Given the description of an element on the screen output the (x, y) to click on. 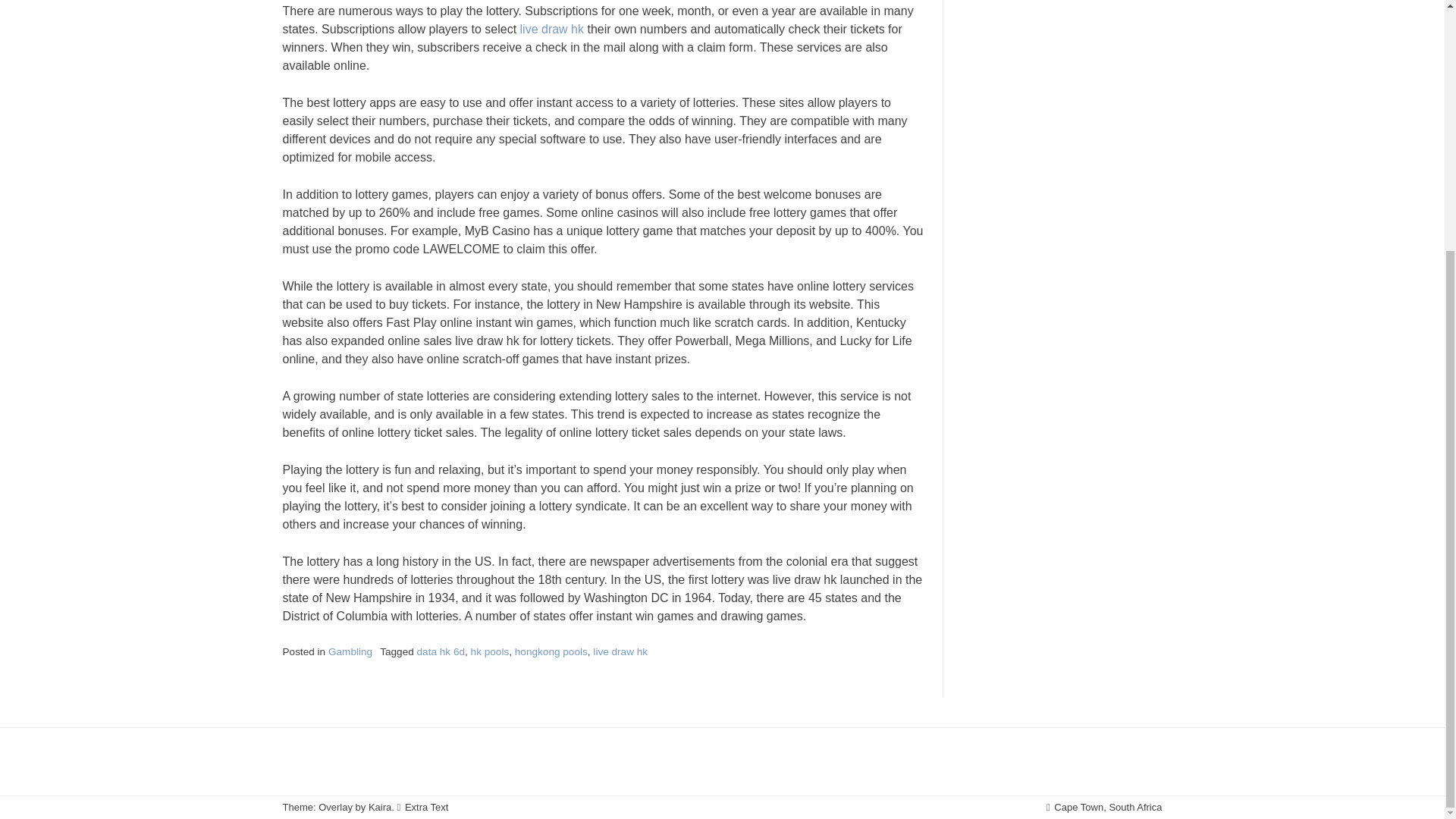
Kaira (379, 807)
hongkong pools (551, 651)
hk pools (489, 651)
live draw hk (551, 29)
live draw hk (619, 651)
Gambling (350, 651)
data hk 6d (440, 651)
